Given the description of an element on the screen output the (x, y) to click on. 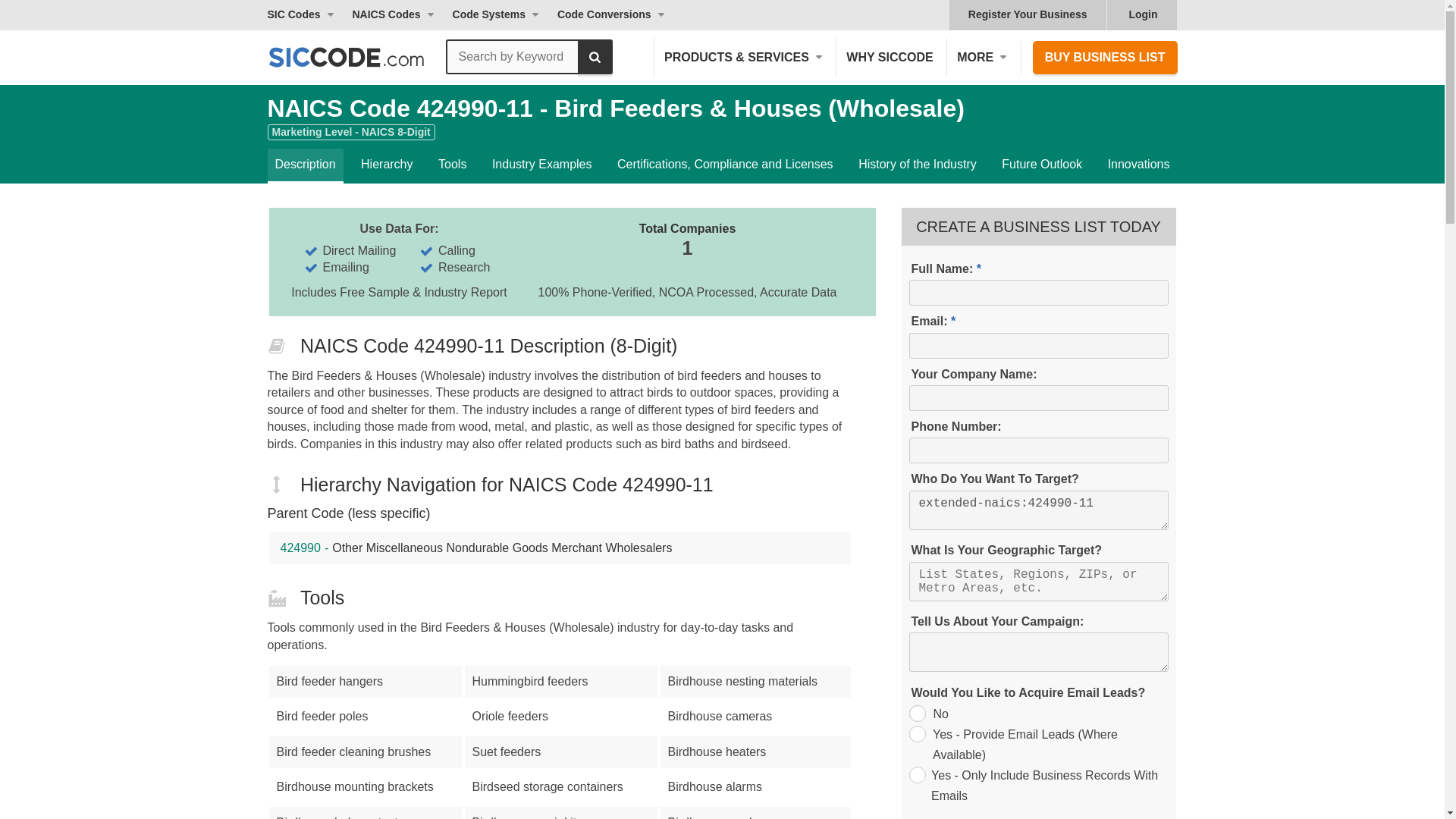
SEARCH (595, 56)
Yes, where available (916, 733)
SEARCH (595, 56)
Yes, Only With Emails (915, 774)
No (916, 713)
